Given the description of an element on the screen output the (x, y) to click on. 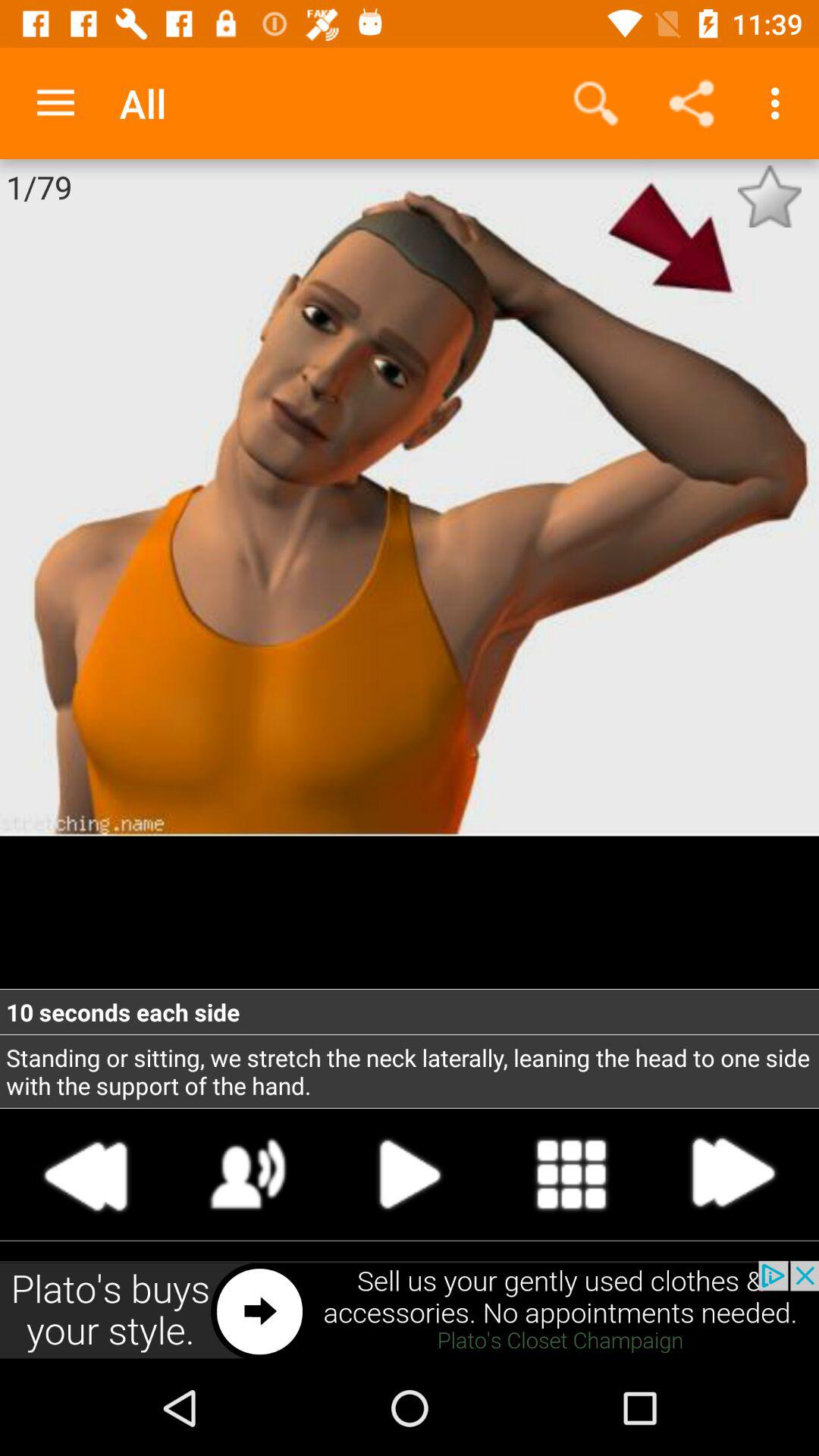
go to favorite option (769, 196)
